Given the description of an element on the screen output the (x, y) to click on. 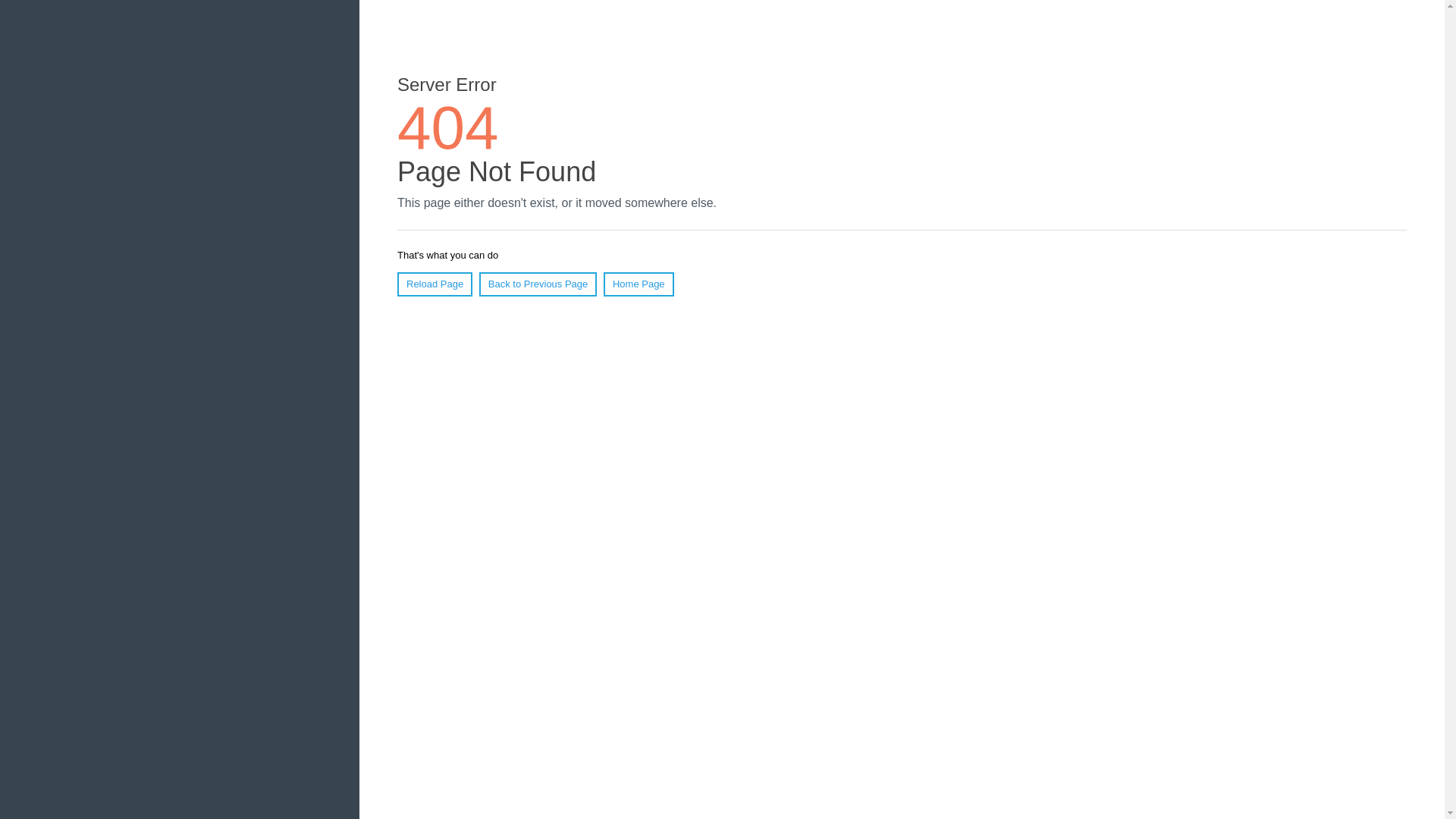
Reload Page Element type: text (434, 284)
Back to Previous Page Element type: text (538, 284)
Home Page Element type: text (638, 284)
